Given the description of an element on the screen output the (x, y) to click on. 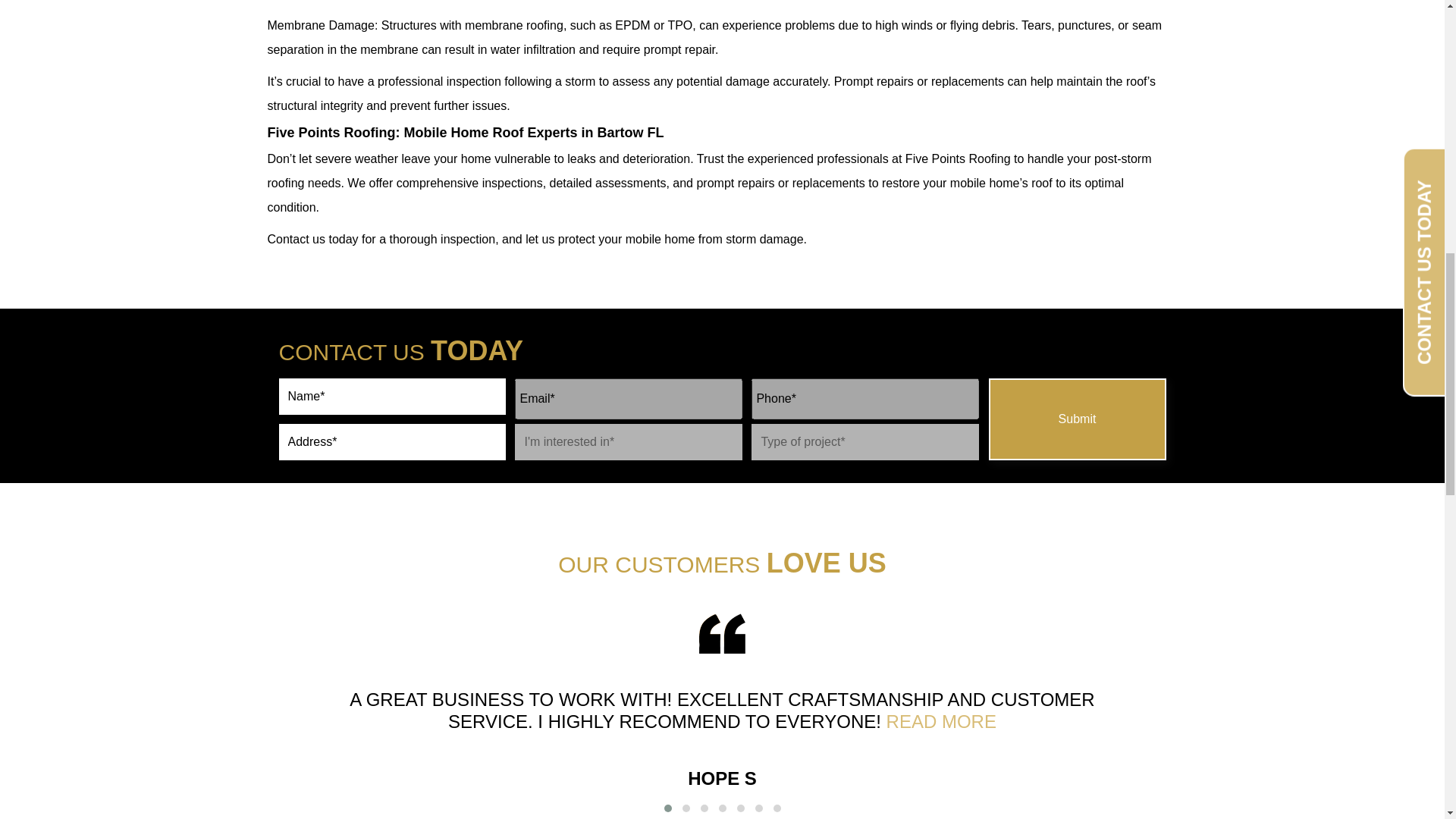
Submit (1077, 419)
READ MORE (940, 721)
Submit (1077, 419)
